Given the description of an element on the screen output the (x, y) to click on. 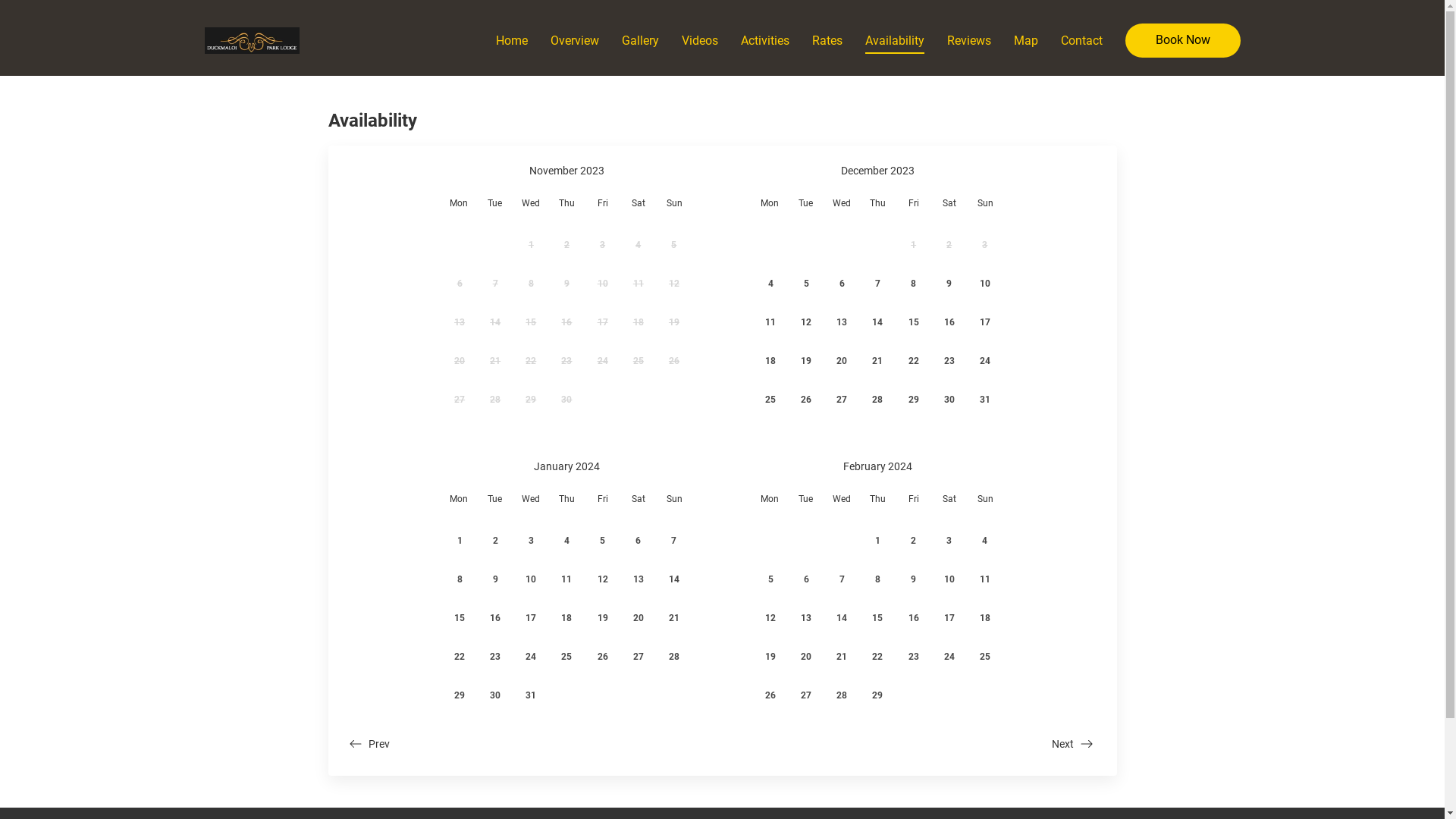
Contact Element type: text (1080, 39)
Activities Element type: text (764, 39)
Videos Element type: text (698, 39)
Overview Element type: text (574, 39)
Book Now Element type: text (1182, 40)
Home Element type: text (511, 39)
Image Title Element type: hover (251, 40)
Gallery Element type: text (639, 39)
Map Element type: text (1025, 39)
Rates Element type: text (826, 39)
Reviews Element type: text (968, 39)
Availability Element type: text (893, 39)
